Given the description of an element on the screen output the (x, y) to click on. 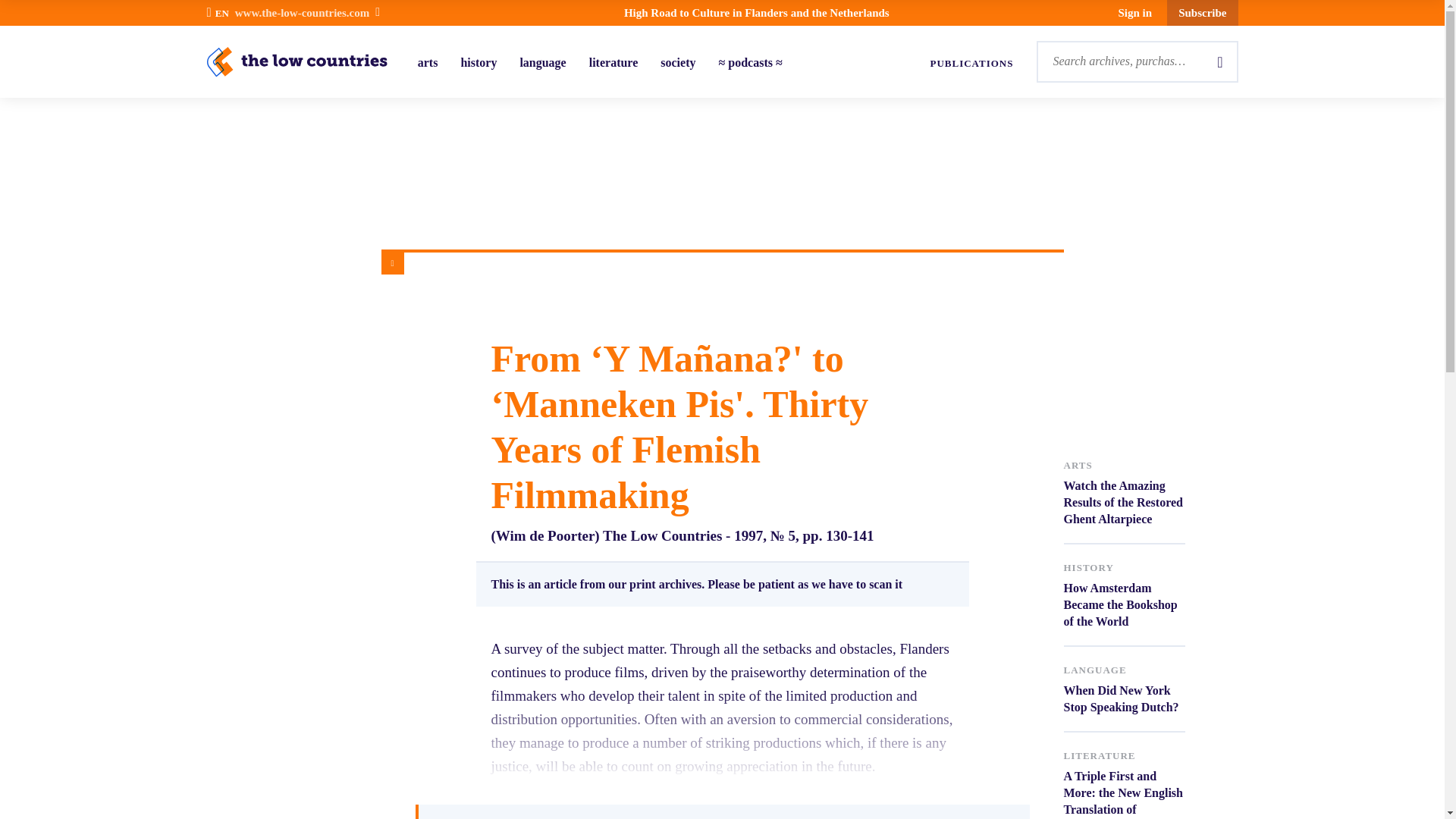
Sign in (1123, 689)
language (1135, 13)
arts (542, 61)
PUBLICATIONS (427, 61)
history (1123, 595)
Subscribe (971, 63)
literature (478, 61)
Logo-eng (1202, 12)
society (614, 61)
